Given the description of an element on the screen output the (x, y) to click on. 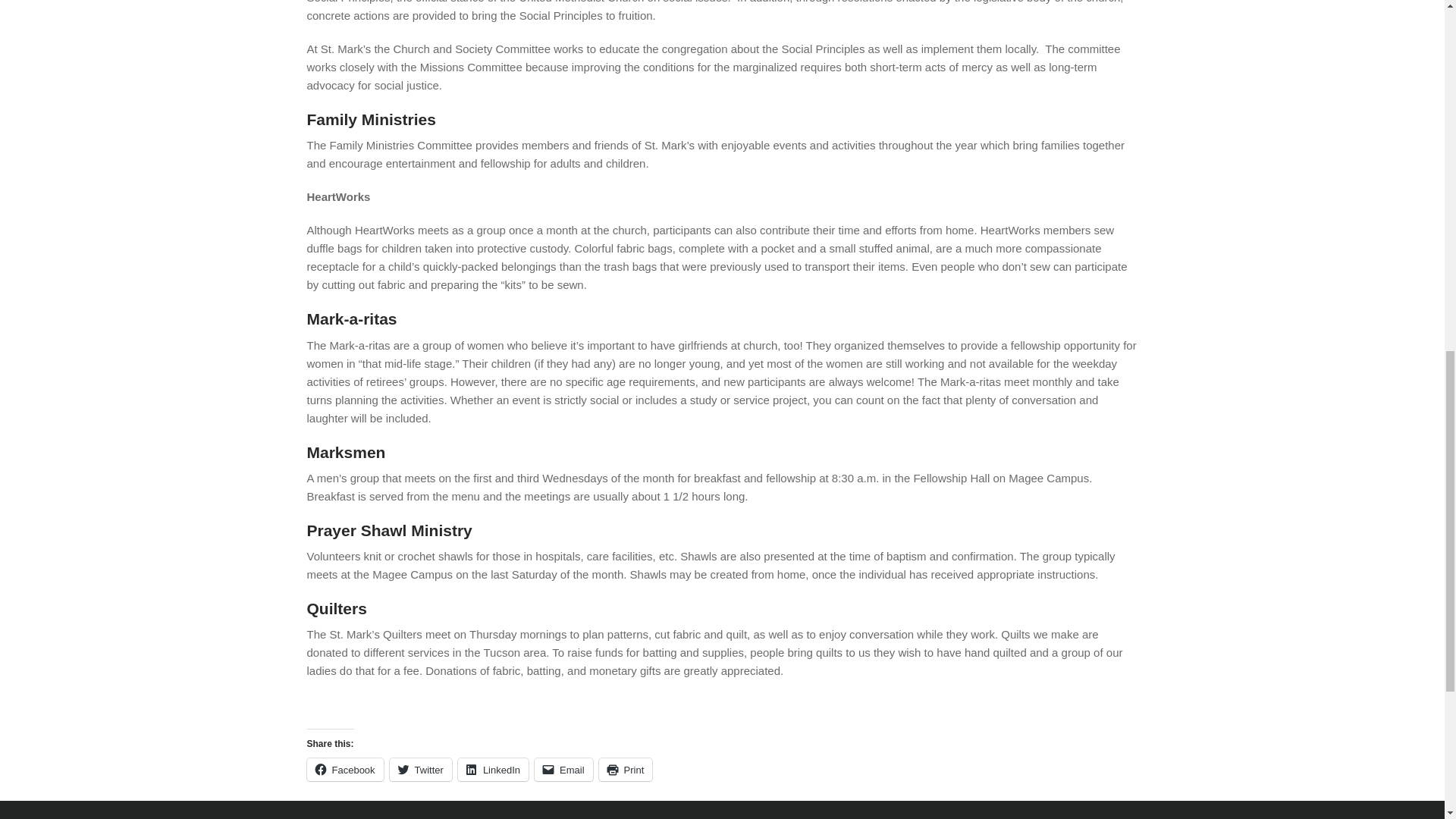
Click to share on Facebook (343, 769)
Click to print (625, 769)
Click to share on Twitter (420, 769)
Click to email a link to a friend (563, 769)
Click to share on LinkedIn (493, 769)
